Given the description of an element on the screen output the (x, y) to click on. 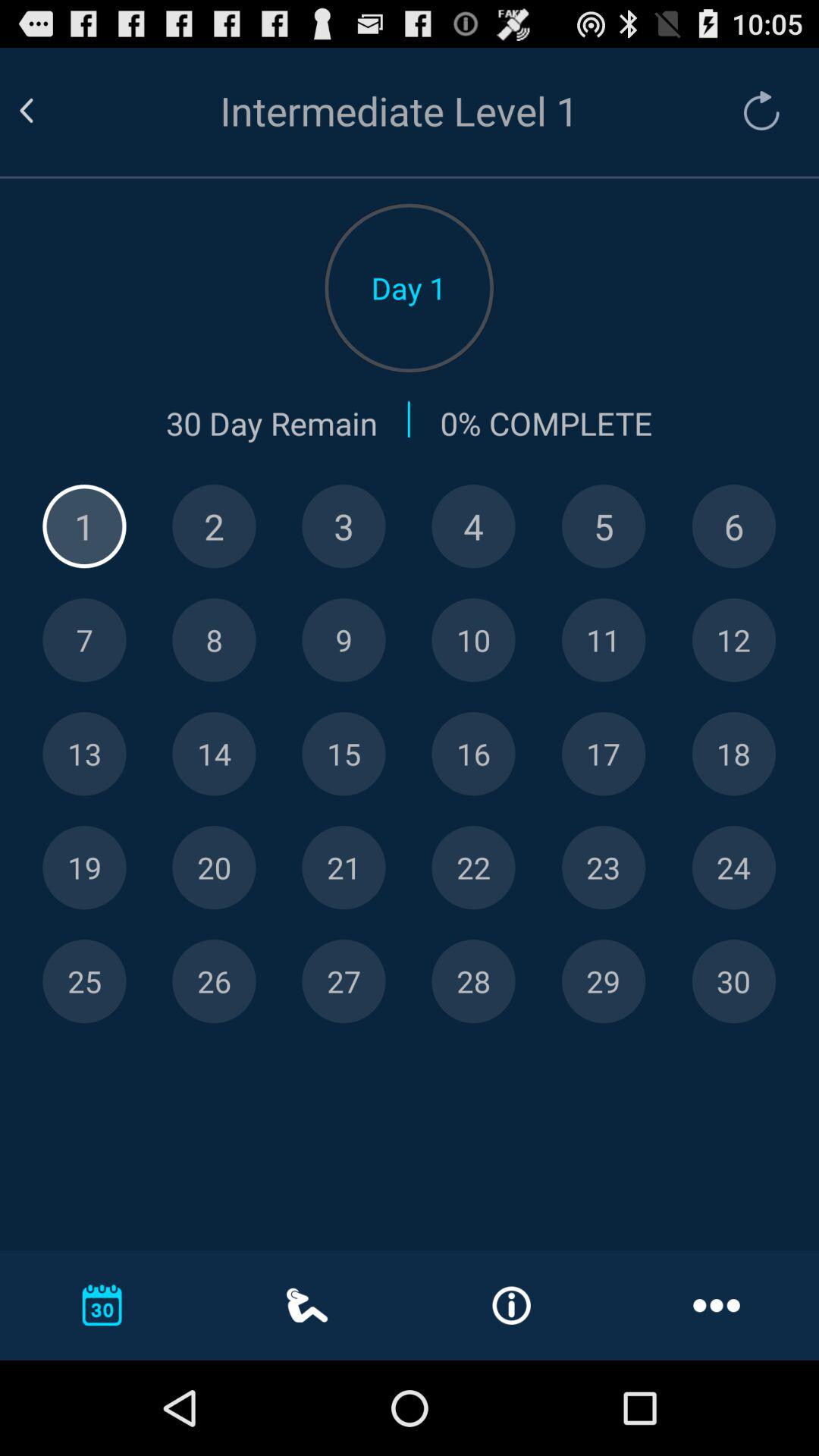
day 19 (84, 867)
